Given the description of an element on the screen output the (x, y) to click on. 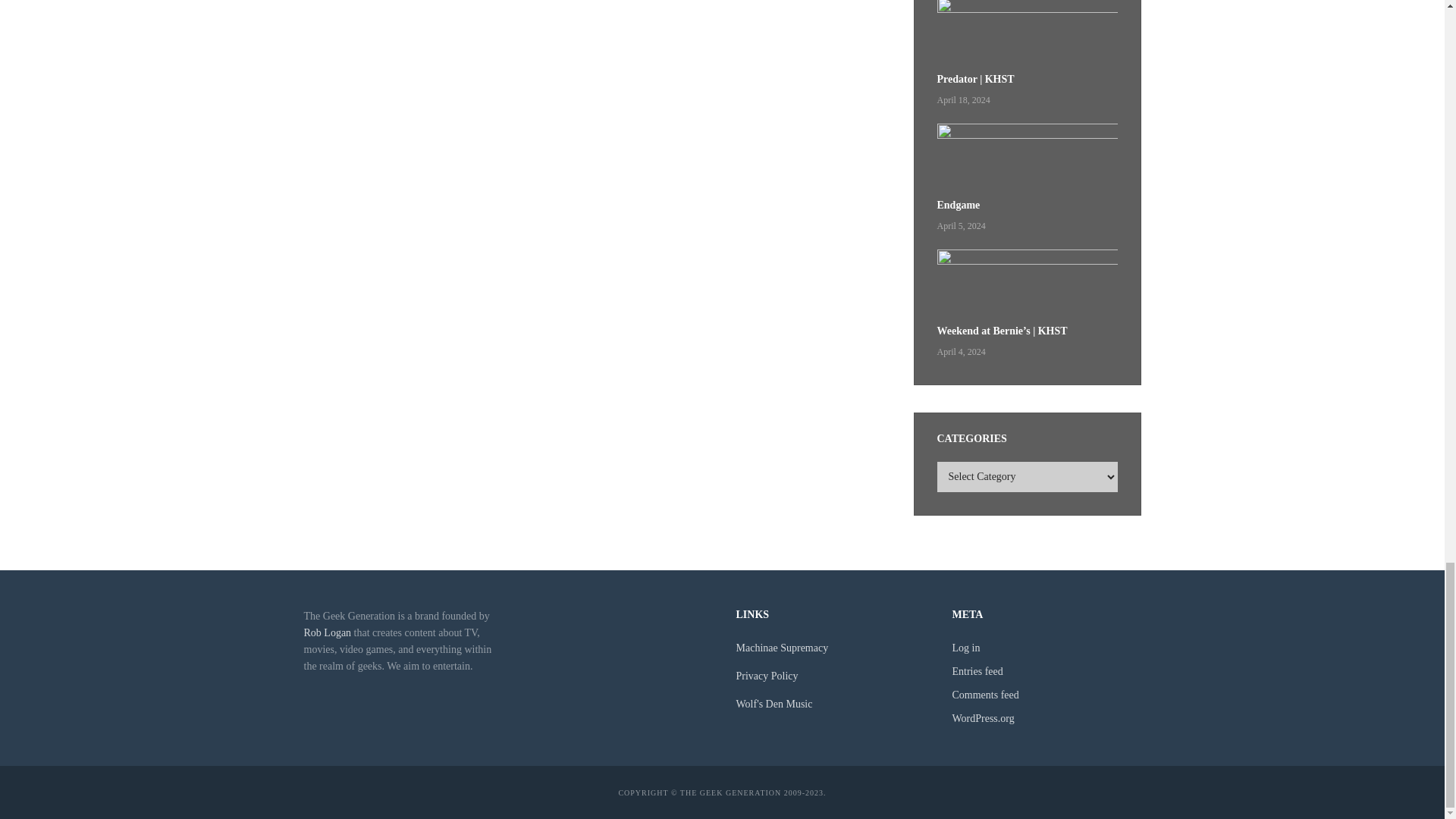
Endgame (1027, 158)
The band that supplies our podcast theme. (781, 647)
